Given the description of an element on the screen output the (x, y) to click on. 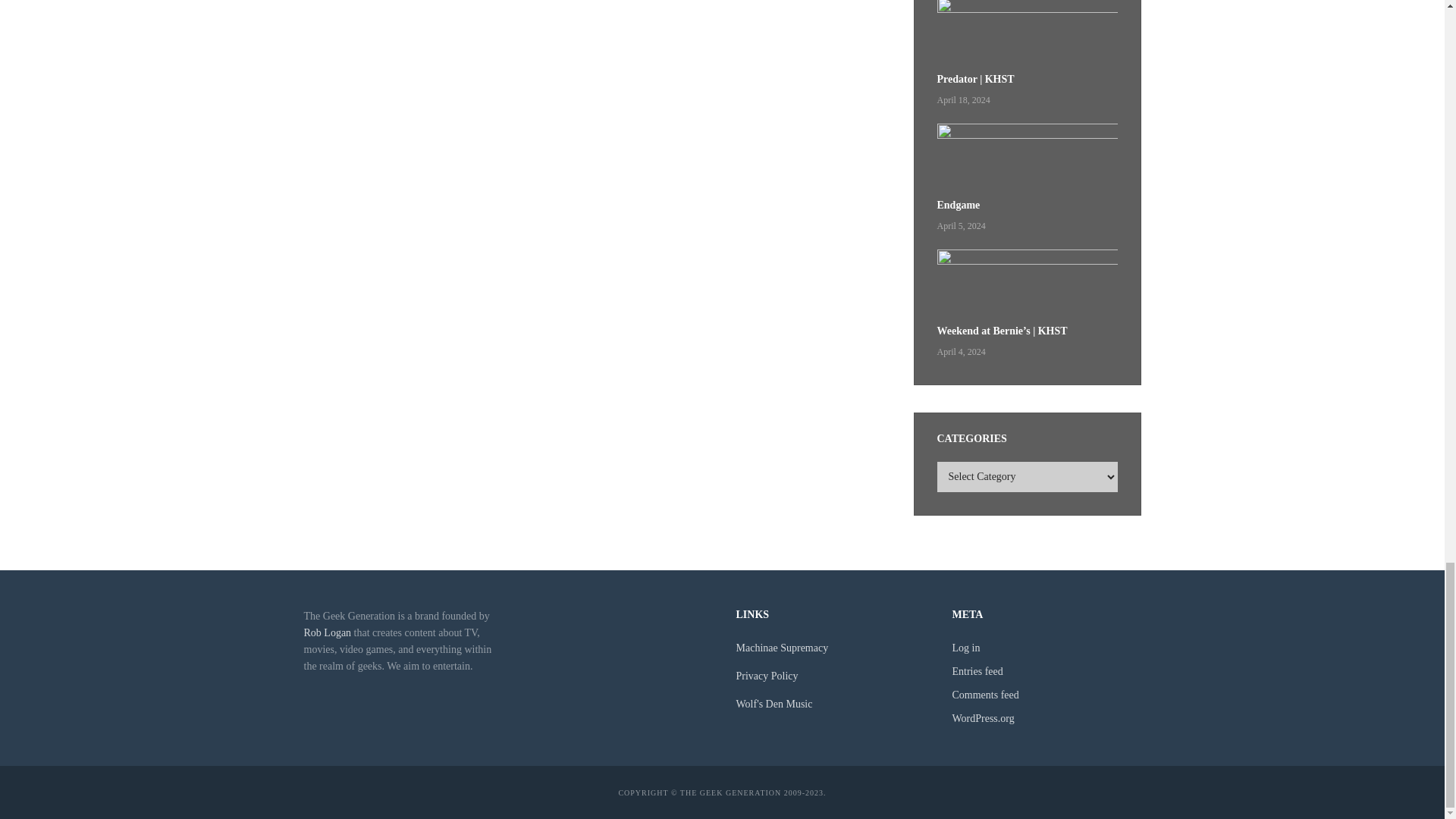
Endgame (1027, 158)
The band that supplies our podcast theme. (781, 647)
